Given the description of an element on the screen output the (x, y) to click on. 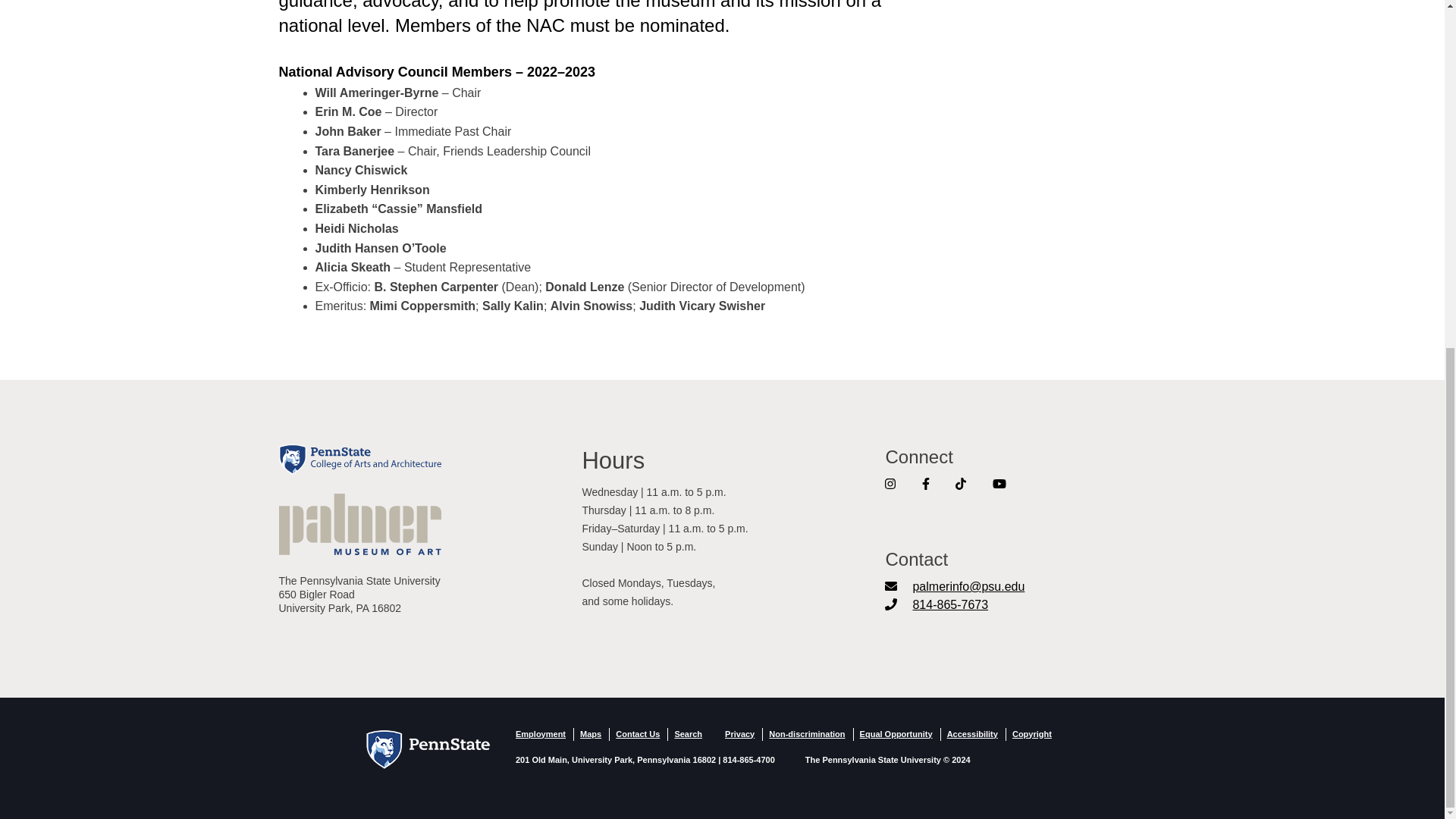
Search (687, 733)
814-865-7673 (936, 604)
Employment (540, 733)
Maps (590, 733)
Privacy (739, 733)
Equal Opportunity (896, 733)
Contact Us (637, 733)
Non-discrimination (806, 733)
